Given the description of an element on the screen output the (x, y) to click on. 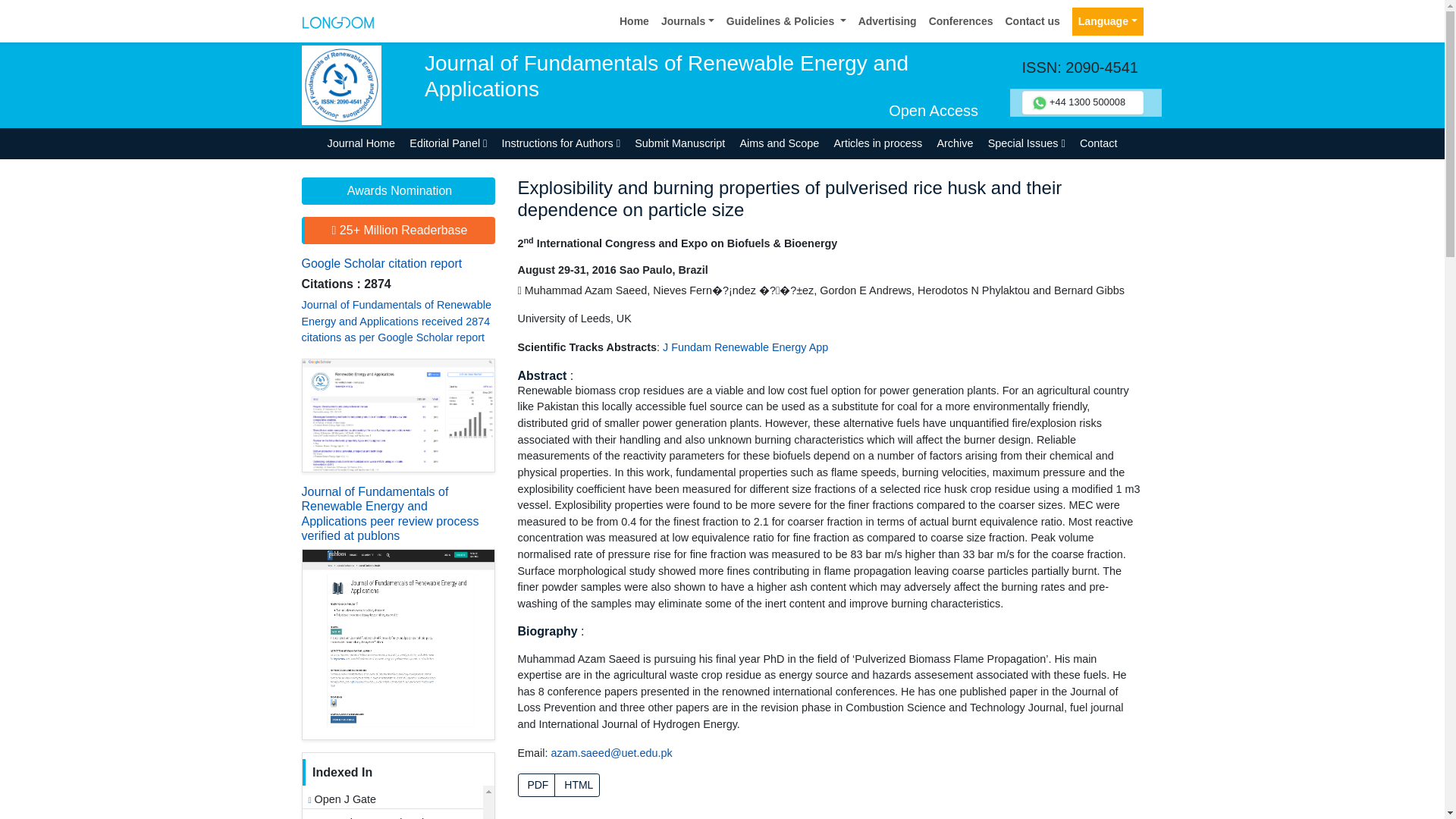
Contact us (1031, 21)
Conferences (960, 21)
Archive (954, 142)
Articles in process (878, 142)
Home (633, 21)
Longdom Publishing S.L (337, 20)
Contact us (1031, 21)
Advertising (887, 21)
Home (633, 21)
Advertising (887, 21)
Instructions for Authors (561, 142)
Journals (687, 21)
Editorial Panel (449, 142)
Submit Manuscript (679, 142)
Journal Home (361, 142)
